Given the description of an element on the screen output the (x, y) to click on. 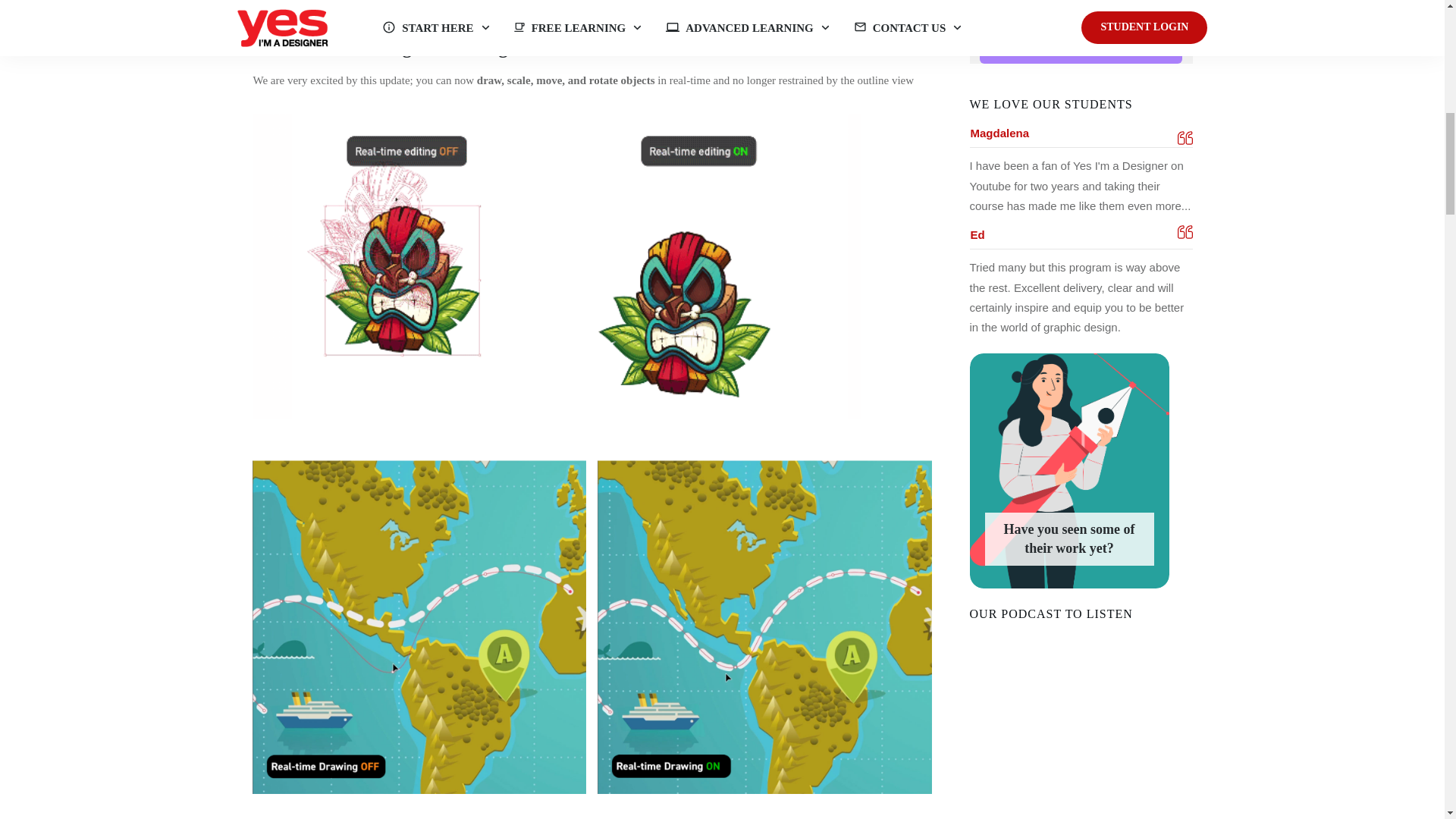
1.Real-time drawing and Editing (380, 47)
Yes I'm a Designer Podcast (1080, 724)
